Given the description of an element on the screen output the (x, y) to click on. 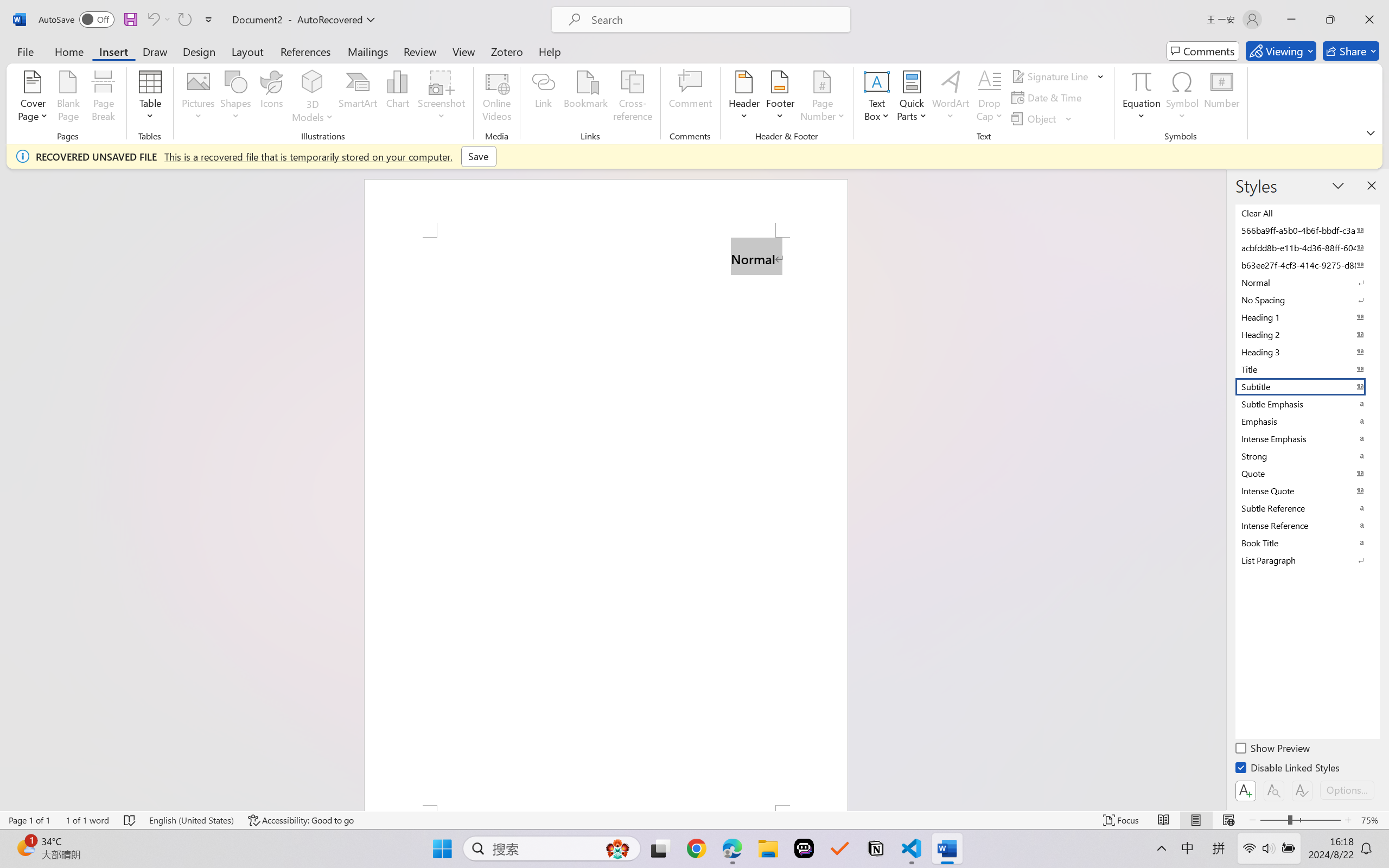
Object... (1035, 118)
No Spacing (1306, 300)
Blank Page (67, 97)
Signature Line (1058, 75)
Ribbon Display Options (1370, 132)
Heading 1 (1306, 317)
Class: NetUIButton (1301, 790)
Heading 3 (1306, 352)
Number... (1221, 97)
WordArt (950, 97)
